Given the description of an element on the screen output the (x, y) to click on. 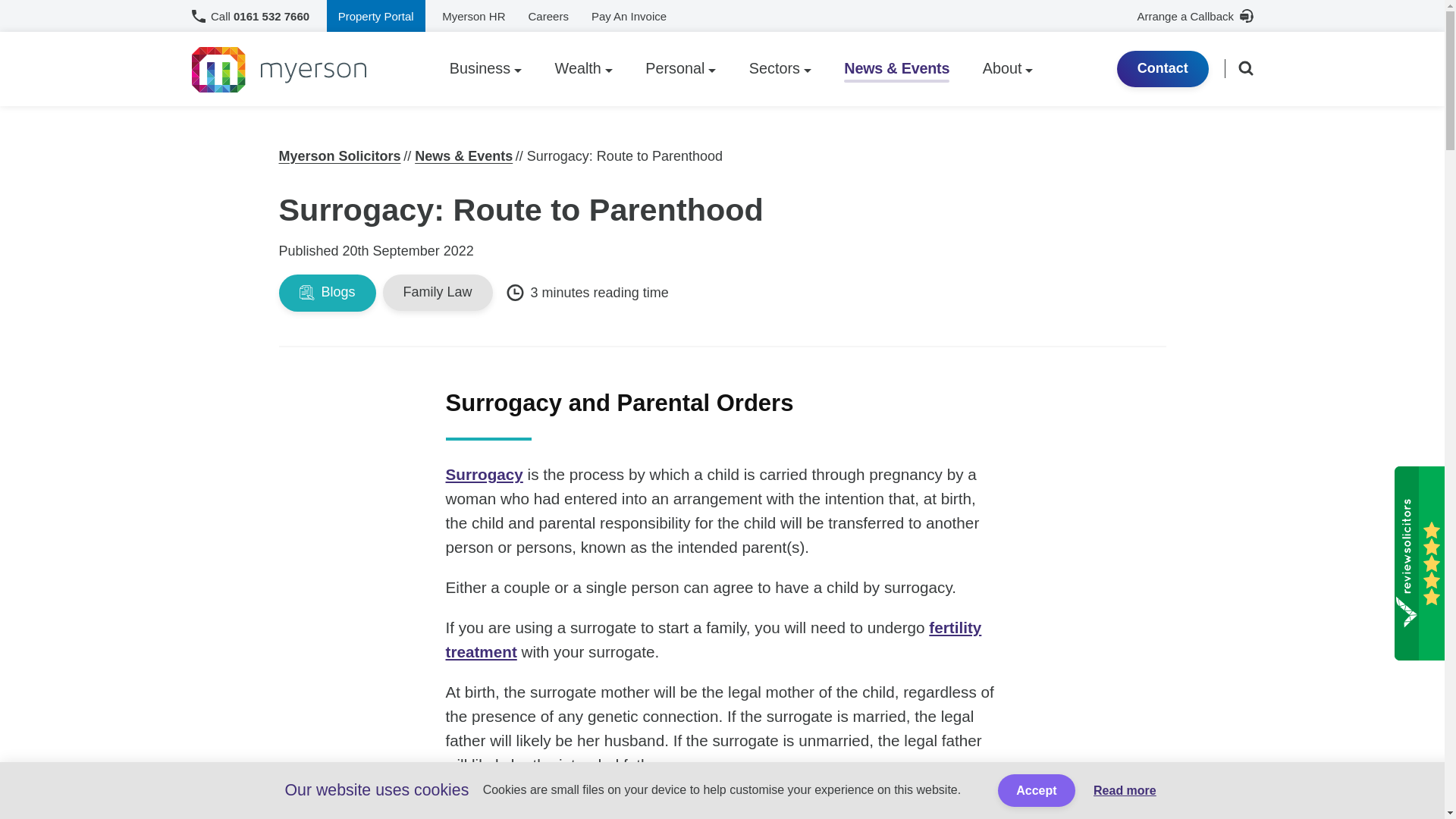
Myerson Solicitors (340, 155)
About (1008, 68)
Family Law (437, 293)
22 months ago (408, 250)
Arrange a Callback (1194, 15)
Consent to Fertility Treatment (713, 639)
Blogs (327, 293)
fertility treatment (713, 639)
Pay An Invoice (628, 15)
Personal (680, 68)
Visit the Myerson Solicitors Surrogacy Page (483, 474)
Contact (1162, 68)
Open search (1244, 67)
Surrogacy (483, 474)
